Given the description of an element on the screen output the (x, y) to click on. 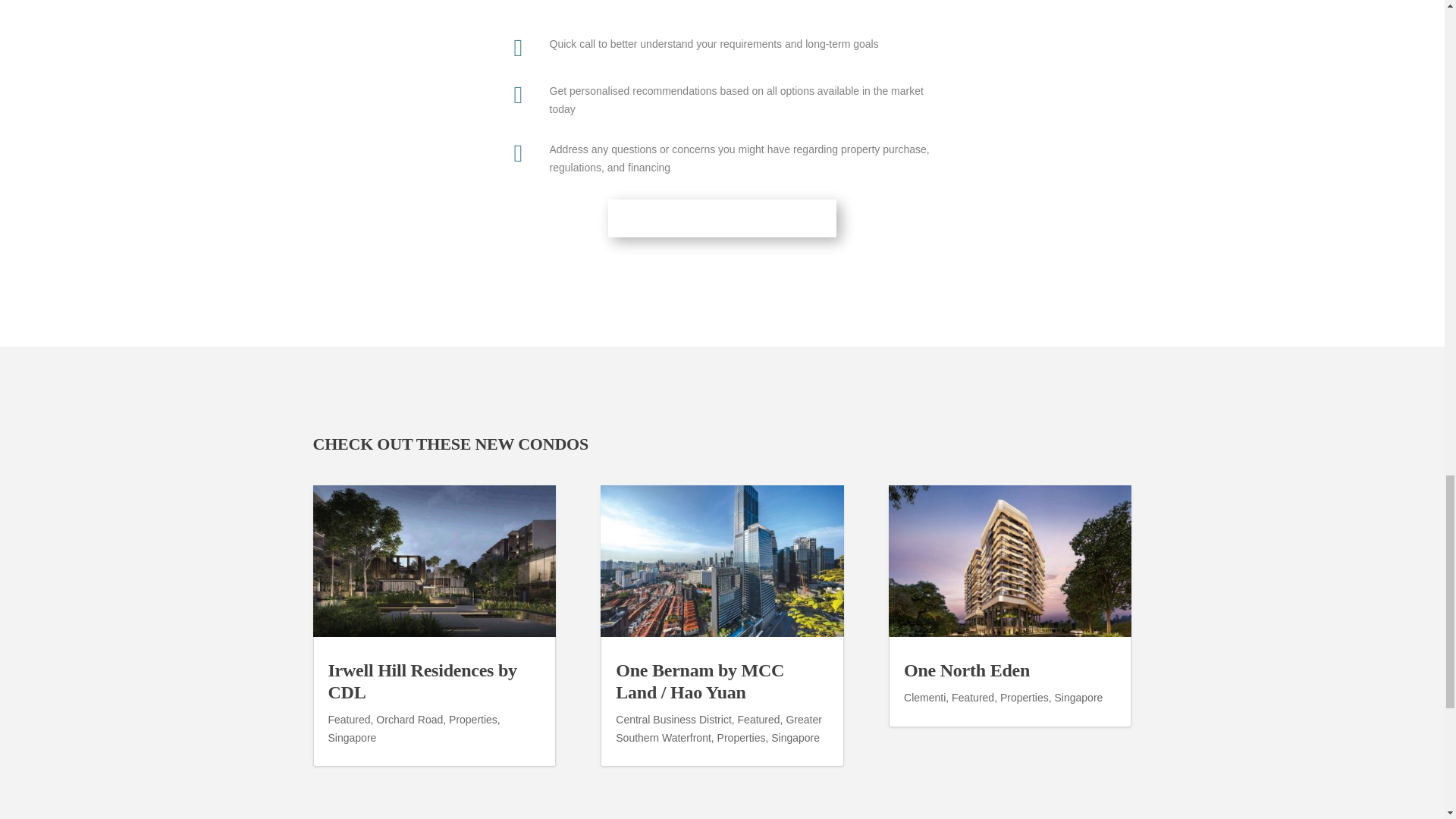
Orchard Road (408, 719)
Featured (348, 719)
Sign Up for VVIP Concierge (721, 218)
Irwell Hill Residences by CDL (421, 680)
